Given the description of an element on the screen output the (x, y) to click on. 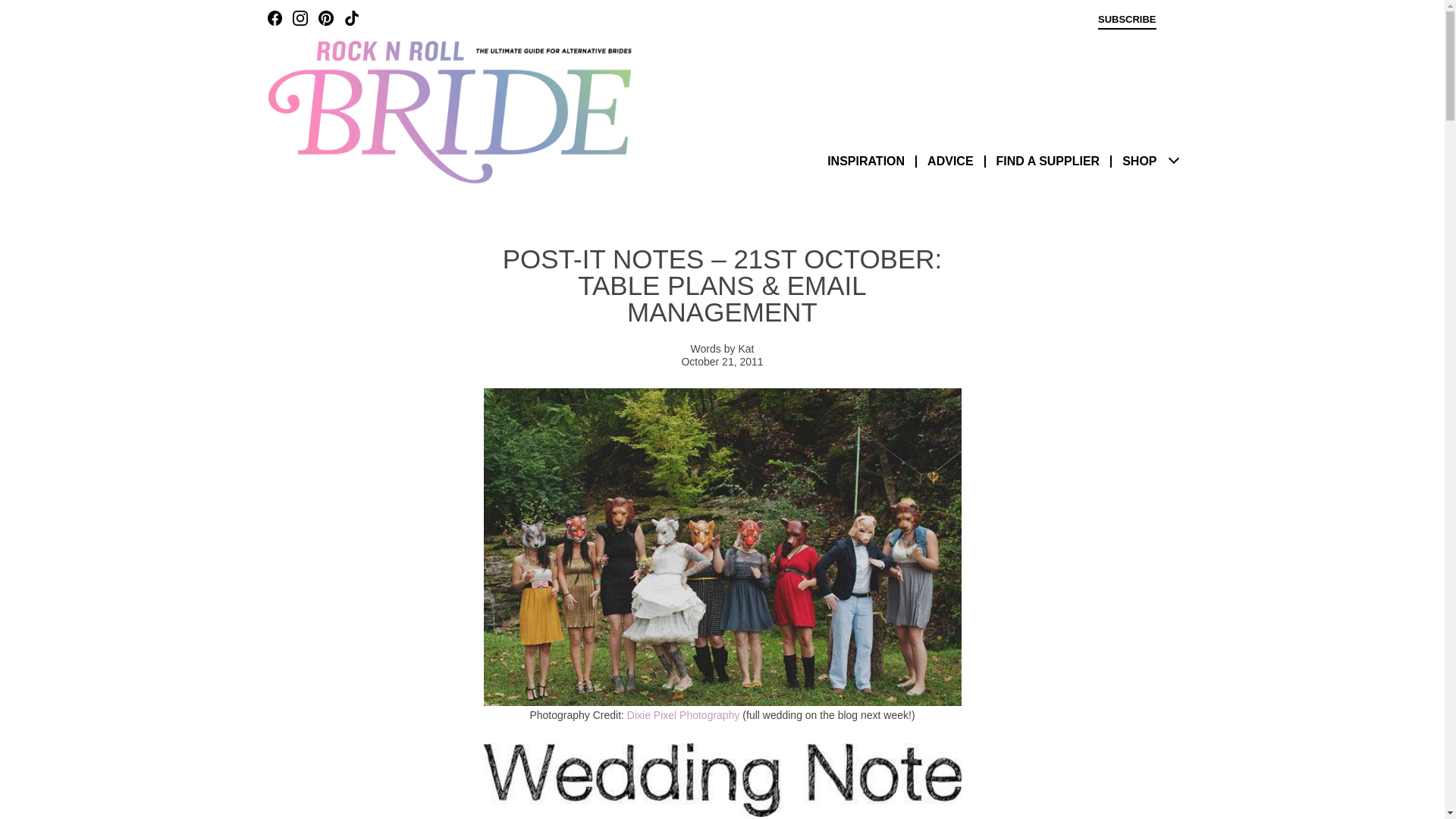
ADVICE (949, 160)
Rock n Roll Bride (448, 111)
SHOP (1139, 160)
Subscribe (1126, 21)
Kat (746, 348)
FIND A SUPPLIER (1047, 160)
Dixie Pixel Photography (683, 715)
Posts by Kat (746, 348)
SUBSCRIBE (1126, 21)
wedding-planning-note1111211111111112 (721, 779)
INSPIRATION (865, 160)
